Given the description of an element on the screen output the (x, y) to click on. 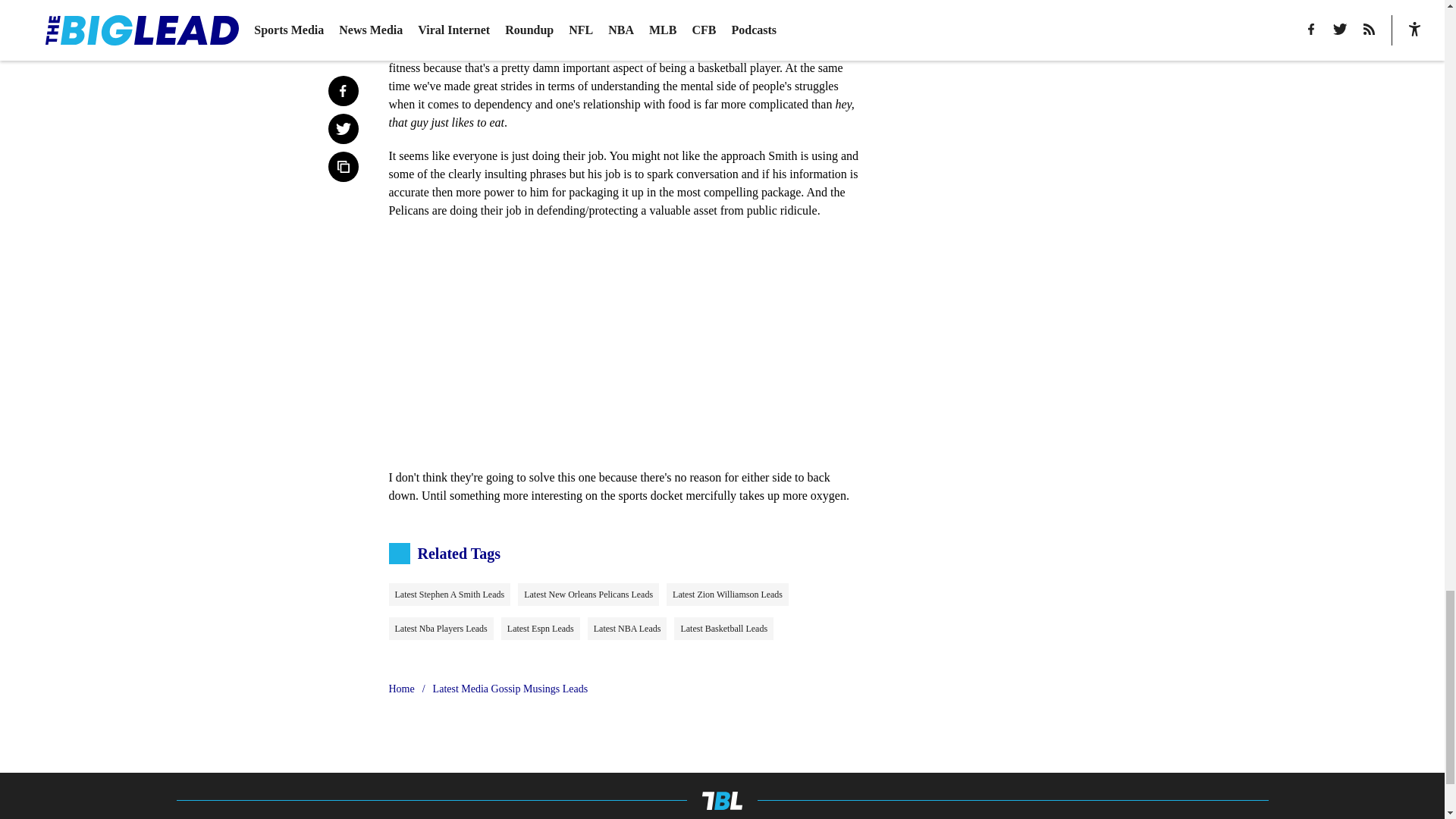
Home (400, 688)
Latest Zion Williamson Leads (727, 594)
Latest Espn Leads (539, 628)
Latest New Orleans Pelicans Leads (588, 594)
Latest NBA Leads (627, 628)
Latest Basketball Leads (723, 628)
Latest Stephen A Smith Leads (449, 594)
Latest Nba Players Leads (440, 628)
